Given the description of an element on the screen output the (x, y) to click on. 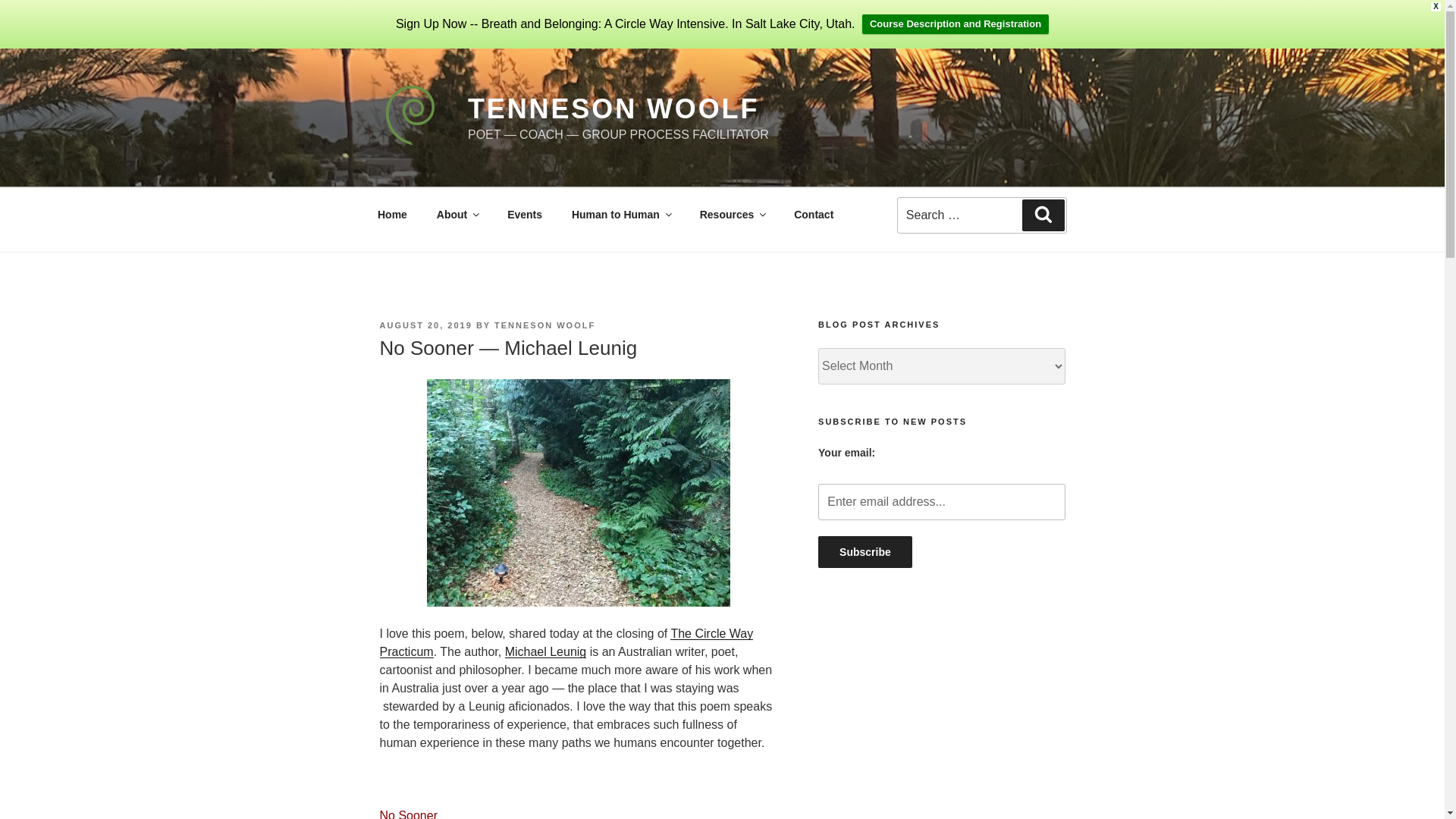
Search (981, 211)
Subscribe (1043, 214)
Human to Human (865, 552)
Enter email address... (619, 213)
Subscribe (941, 502)
TENNESON WOOLF (865, 552)
Home (545, 325)
AUGUST 20, 2019 (392, 213)
Michael Leunig (424, 325)
Events (545, 651)
About (525, 213)
Resources (456, 213)
TENNESON WOOLF (731, 213)
The Circle Way Practicum (612, 108)
